Given the description of an element on the screen output the (x, y) to click on. 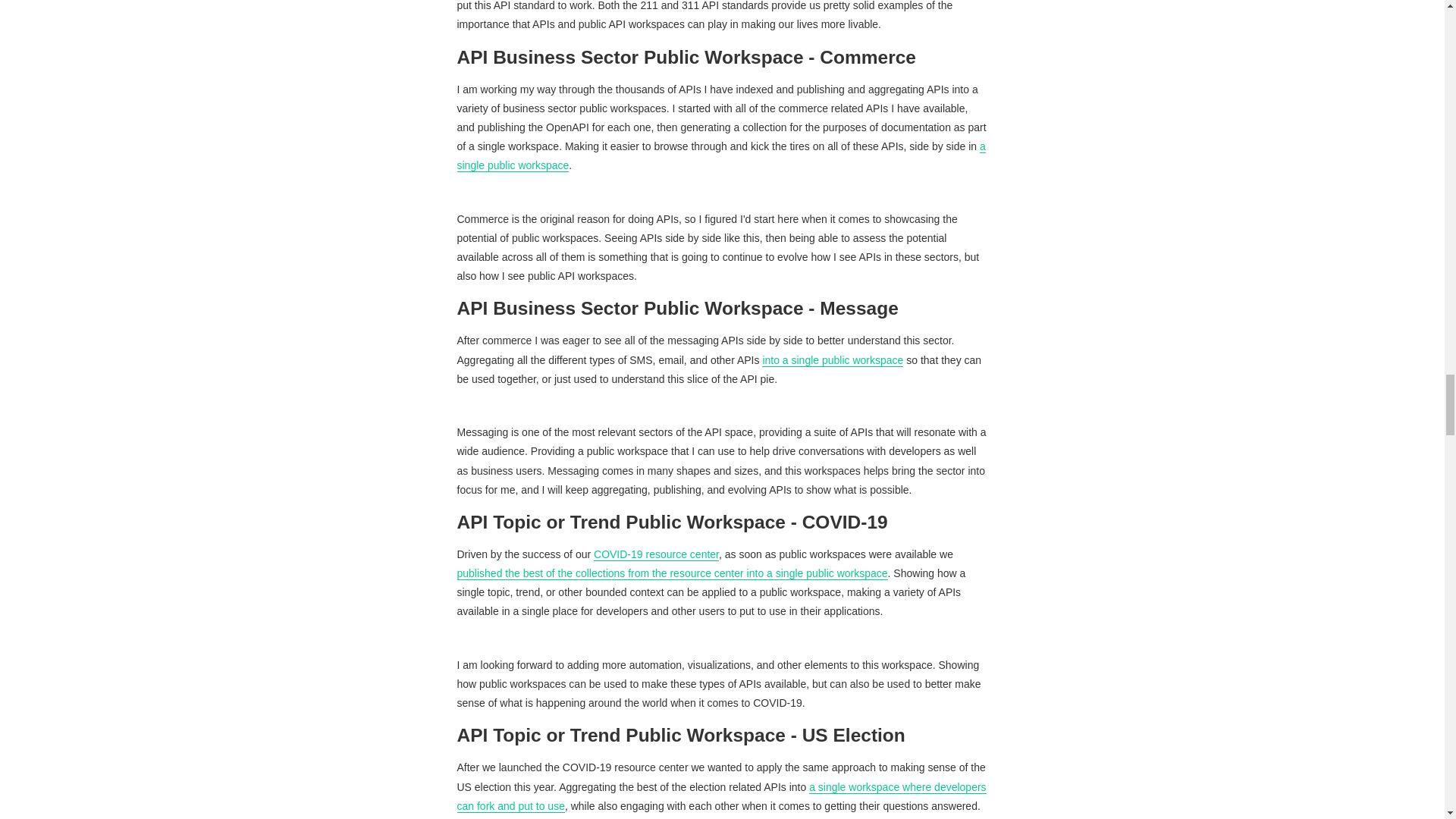
COVID-19 resource center (656, 554)
a single public workspace (721, 155)
into a single public workspace (831, 359)
